Given the description of an element on the screen output the (x, y) to click on. 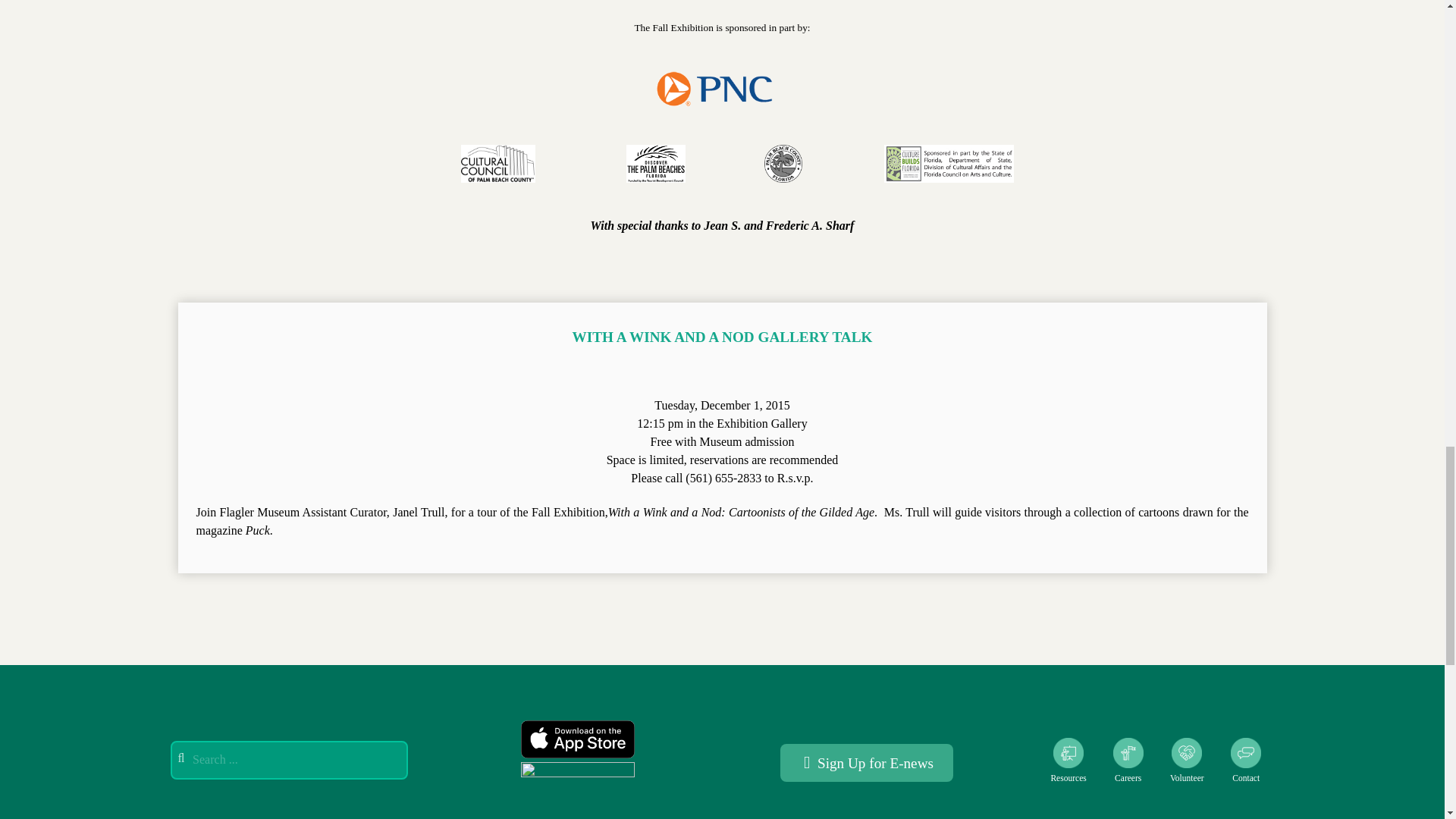
Search (288, 760)
